Given the description of an element on the screen output the (x, y) to click on. 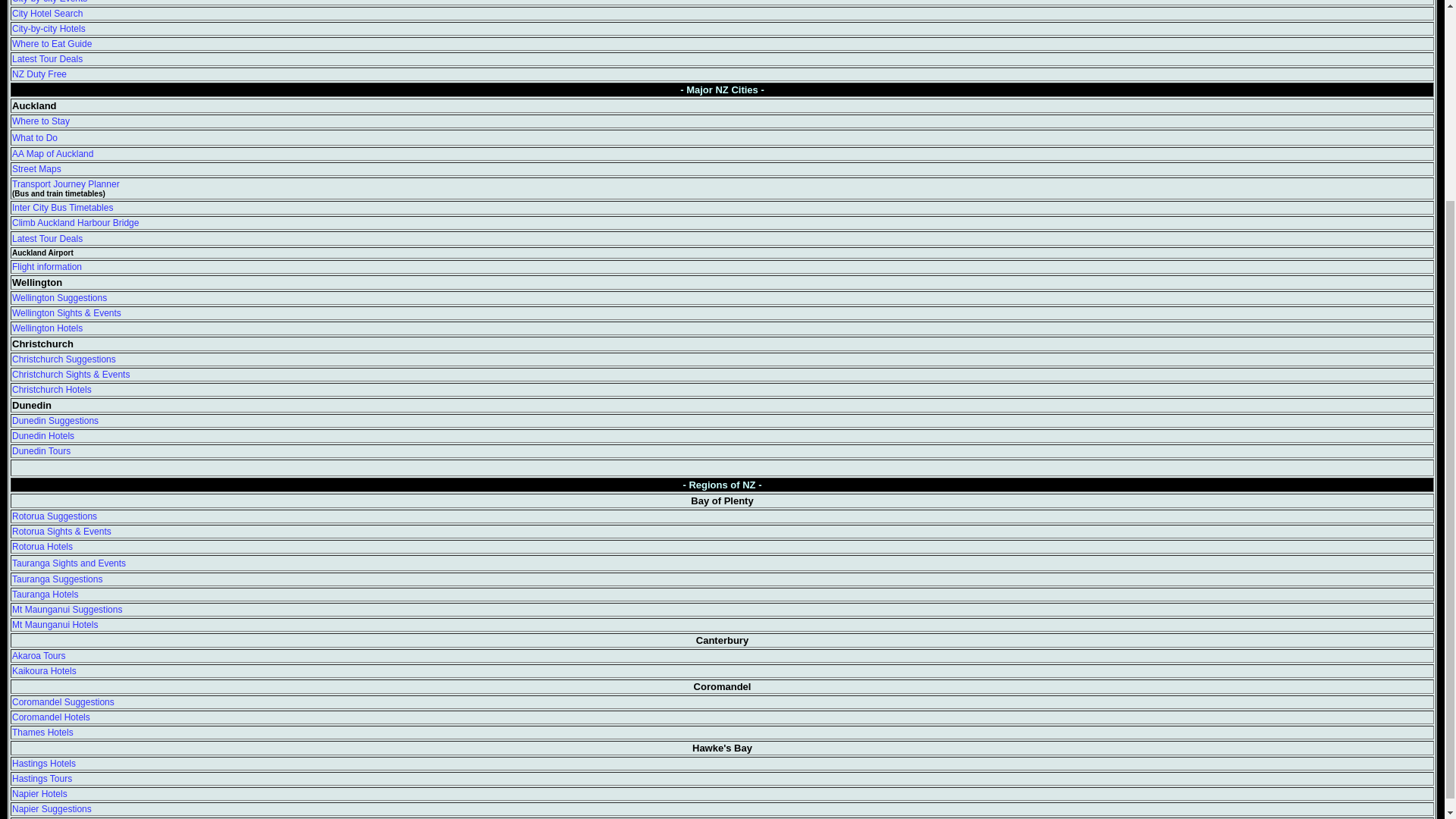
Where to Stay (40, 121)
Transport Journey Planner (65, 184)
Dunedin Tours (40, 450)
City Hotel Search (46, 13)
Latest Tour Deals (46, 237)
Flight information (46, 266)
Tauranga Hotels (44, 593)
Latest Tour Deals (46, 59)
Christchurch Suggestions (63, 358)
Dunedin Hotels (42, 435)
